Given the description of an element on the screen output the (x, y) to click on. 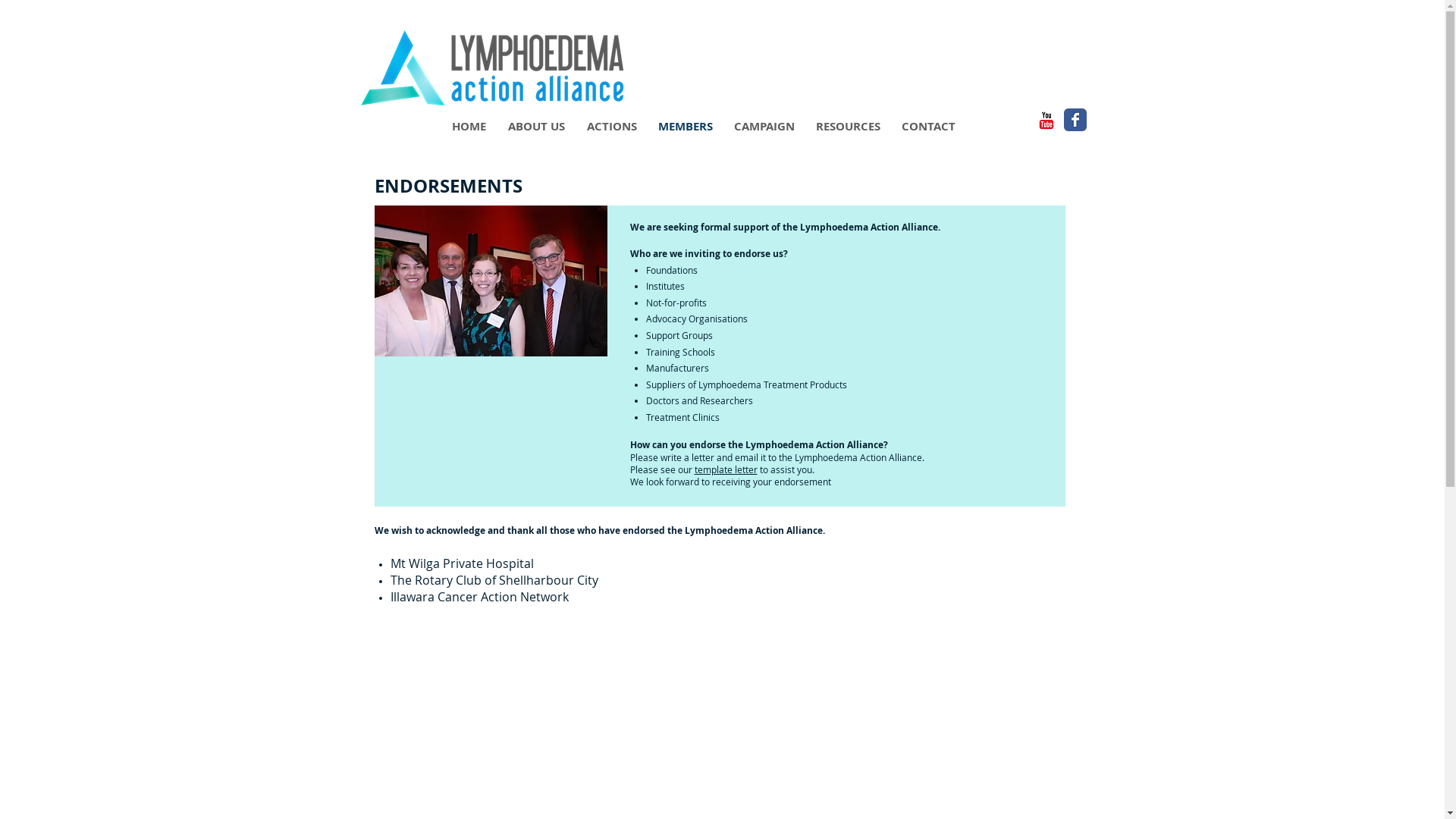
CAMPAIGN Element type: text (762, 126)
template letter Element type: text (725, 469)
MEMBERS Element type: text (683, 126)
IMG_8349.JPG Element type: hover (490, 280)
ACTIONS Element type: text (609, 126)
HOME Element type: text (466, 126)
ABOUT US Element type: text (533, 126)
RESOURCES Element type: text (846, 126)
CONTACT Element type: text (925, 126)
